Given the description of an element on the screen output the (x, y) to click on. 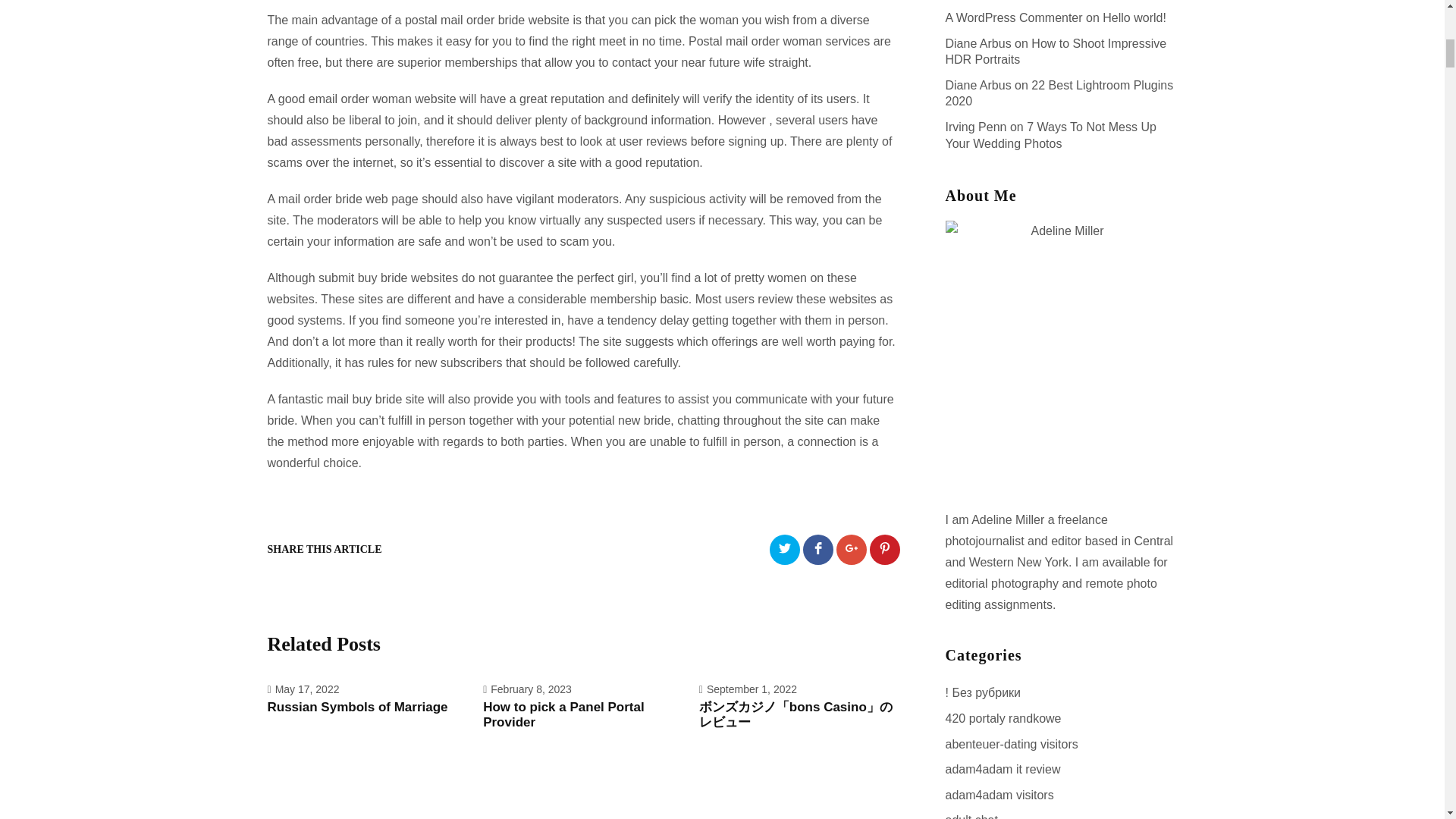
How to pick a Panel Portal Provider (583, 715)
Russian Symbols of Marriage (366, 707)
Share on Pinterest (884, 549)
Russian Symbols of Marriage (366, 707)
How to pick a Panel Portal Provider (583, 715)
Share on Facebook (817, 549)
Share on Twitter (783, 549)
